Given the description of an element on the screen output the (x, y) to click on. 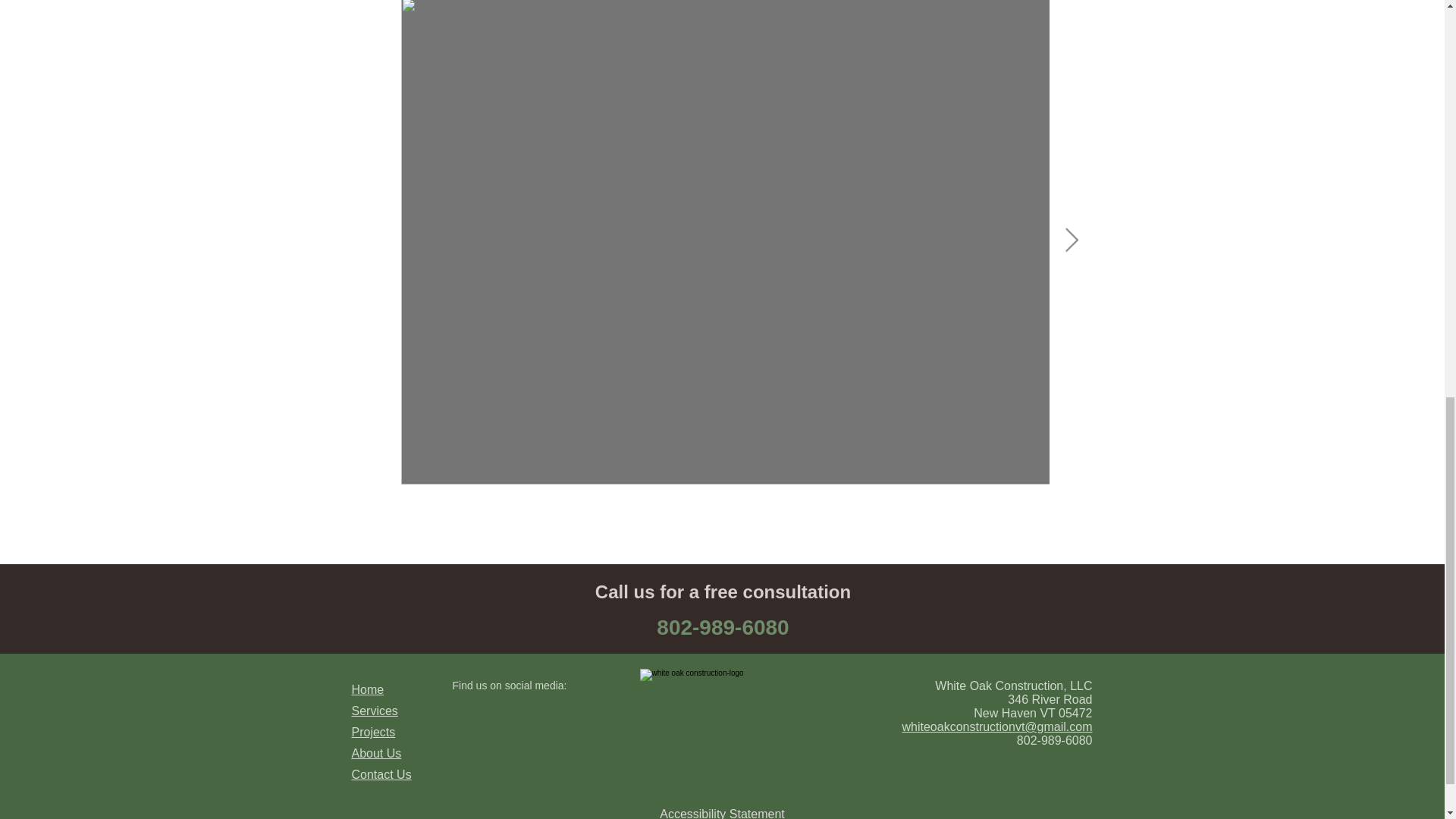
Projects (374, 731)
Contact Us (382, 774)
Accessibility Statement (721, 813)
About Us (376, 753)
802-989-6080 (722, 627)
Services (374, 710)
Home (368, 689)
